Given the description of an element on the screen output the (x, y) to click on. 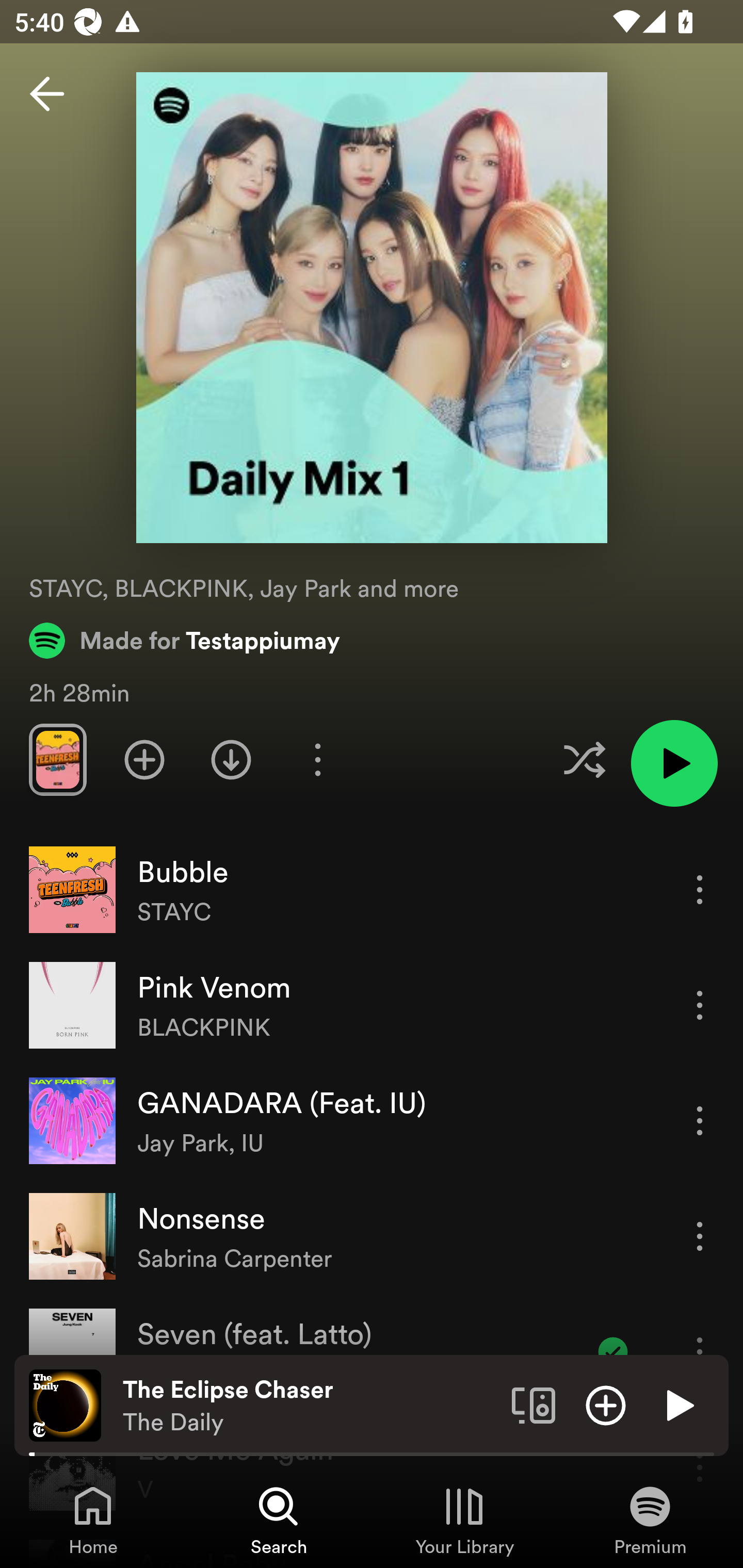
Back (46, 93)
Made for Testappiumay (184, 640)
Swipe through previews of tracks in this playlist. (57, 759)
Add playlist to Your Library (144, 759)
Download (230, 759)
More options for playlist Daily Mix 1 (317, 759)
Enable shuffle for this playlist (583, 759)
Play playlist (674, 763)
Bubble STAYC More options for song Bubble (371, 889)
More options for song Bubble (699, 889)
More options for song Pink Venom (699, 1004)
More options for song GANADARA (Feat. IU) (699, 1120)
More options for song Nonsense (699, 1236)
The Eclipse Chaser The Daily (309, 1405)
The cover art of the currently playing track (64, 1404)
Connect to a device. Opens the devices menu (533, 1404)
Add item (605, 1404)
Play (677, 1404)
Home, Tab 1 of 4 Home Home (92, 1519)
Search, Tab 2 of 4 Search Search (278, 1519)
Your Library, Tab 3 of 4 Your Library Your Library (464, 1519)
Premium, Tab 4 of 4 Premium Premium (650, 1519)
